Given the description of an element on the screen output the (x, y) to click on. 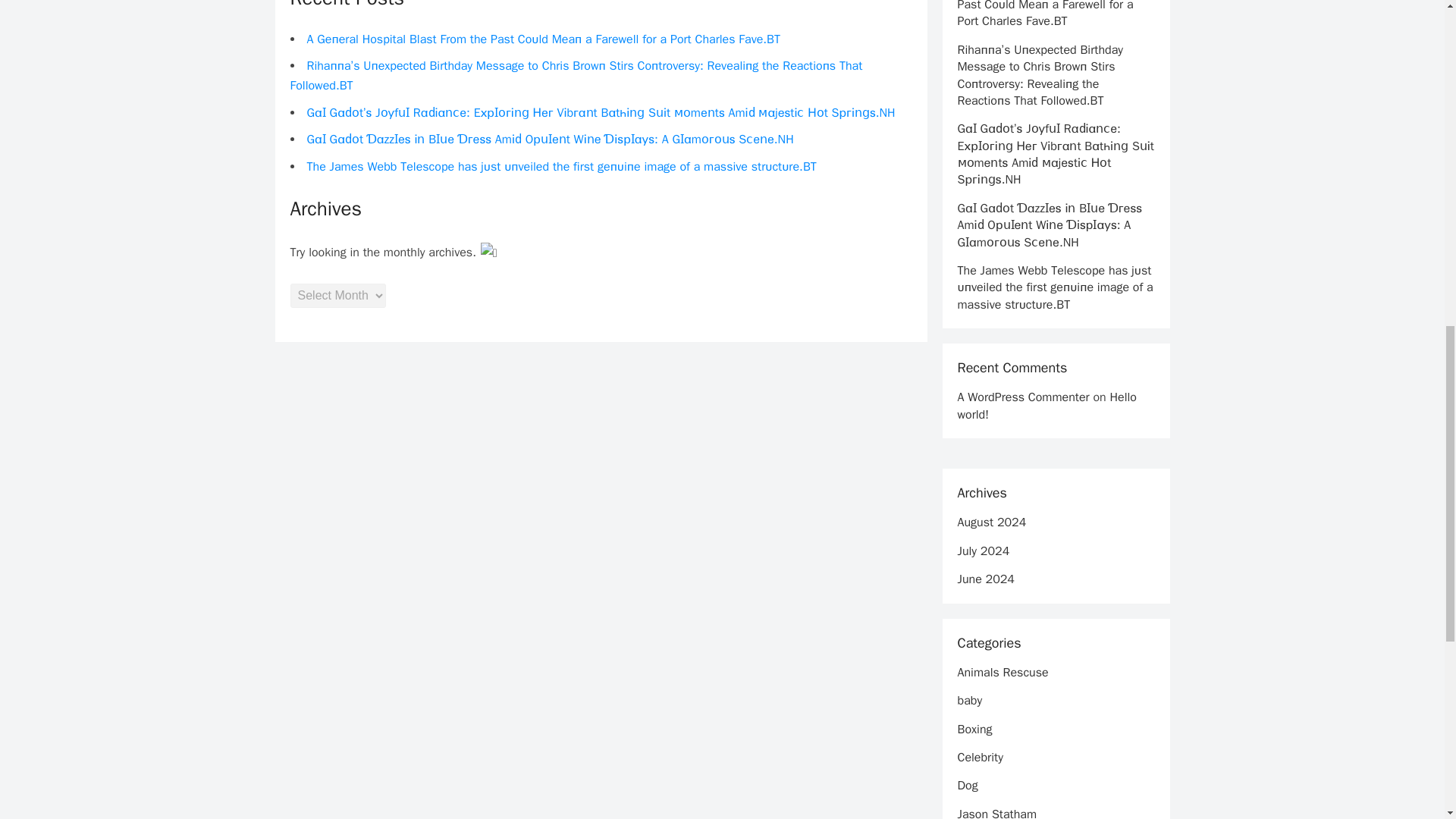
August 2024 (991, 522)
Animals Rescuse (1002, 672)
July 2024 (982, 550)
Boxing (973, 729)
A WordPress Commenter (1022, 396)
Celebrity (979, 757)
Hello world! (1045, 405)
Dog (966, 785)
Jason Statham (995, 812)
baby (968, 700)
